Given the description of an element on the screen output the (x, y) to click on. 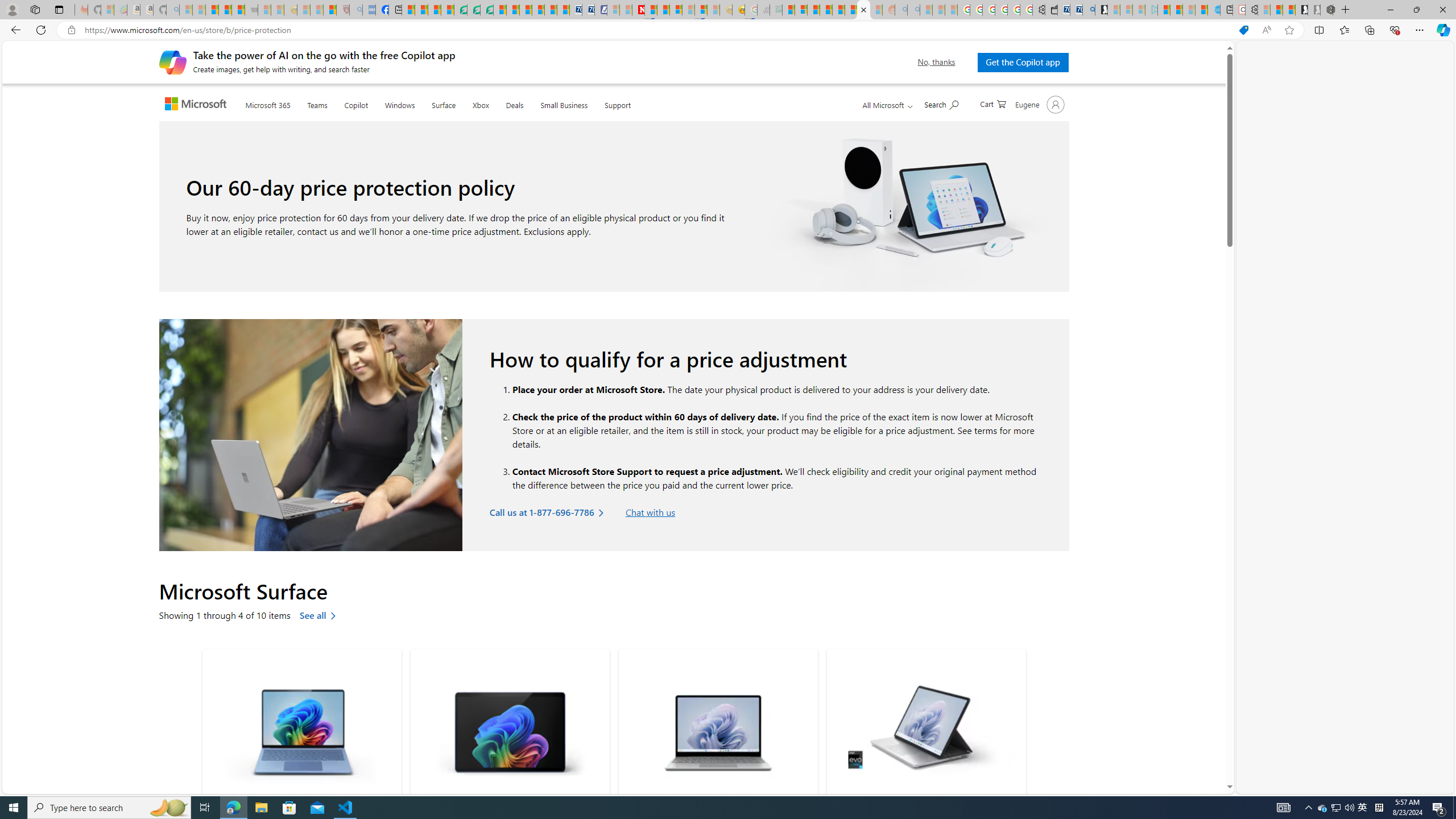
A woman looking at her Surface laptop (310, 435)
Support (617, 103)
Home | Sky Blue Bikes - Sky Blue Bikes (1213, 9)
Nordace - Nordace Siena Is Not An Ordinary Backpack (1327, 9)
14 Common Myths Debunked By Scientific Facts (663, 9)
Teams (317, 103)
DITOGAMES AG Imprint - Sleeping (775, 9)
